Given the description of an element on the screen output the (x, y) to click on. 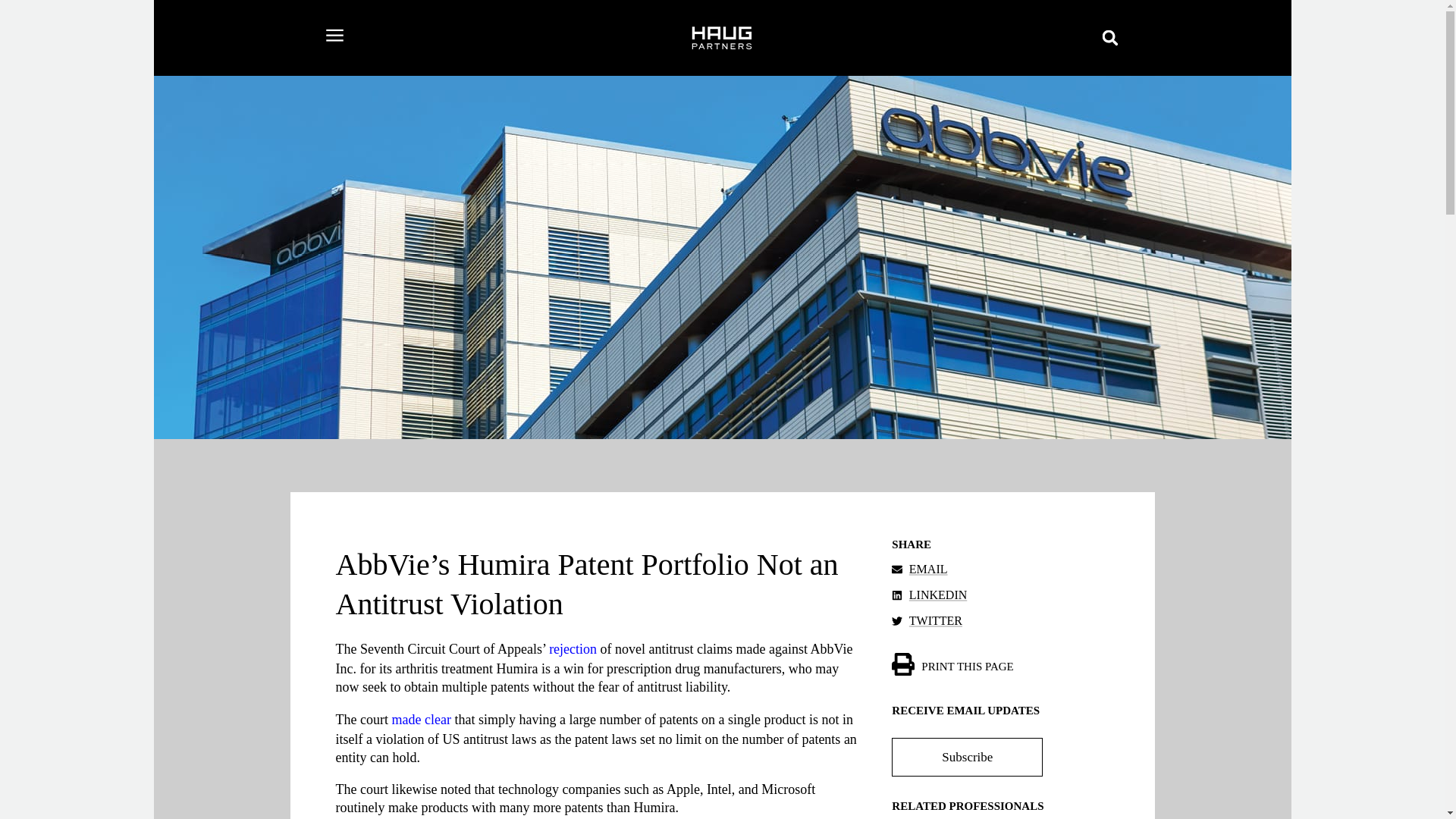
EMAIL (999, 568)
made clear (420, 719)
Subscribe (966, 756)
rejection (572, 648)
LINKEDIN (999, 594)
TWITTER (999, 619)
